Given the description of an element on the screen output the (x, y) to click on. 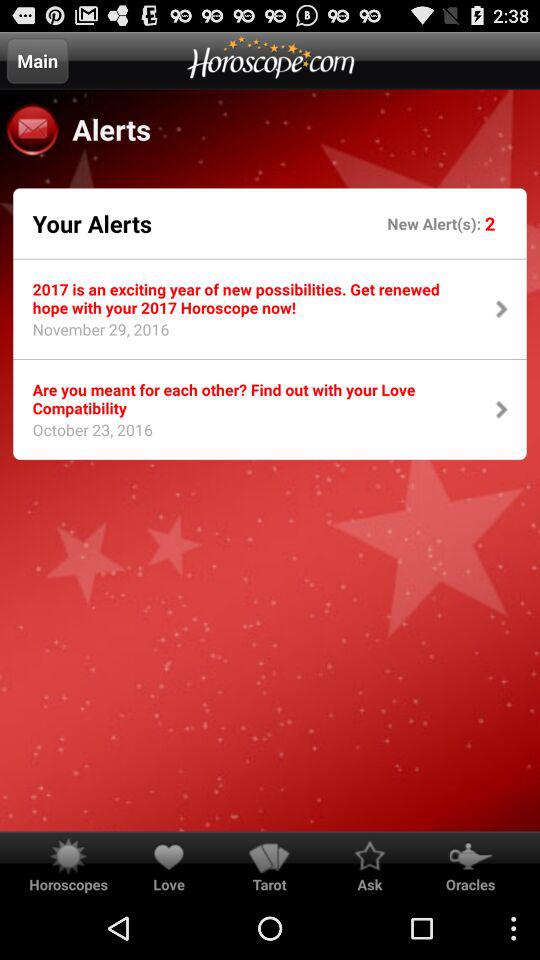
click your alerts icon (91, 223)
